Given the description of an element on the screen output the (x, y) to click on. 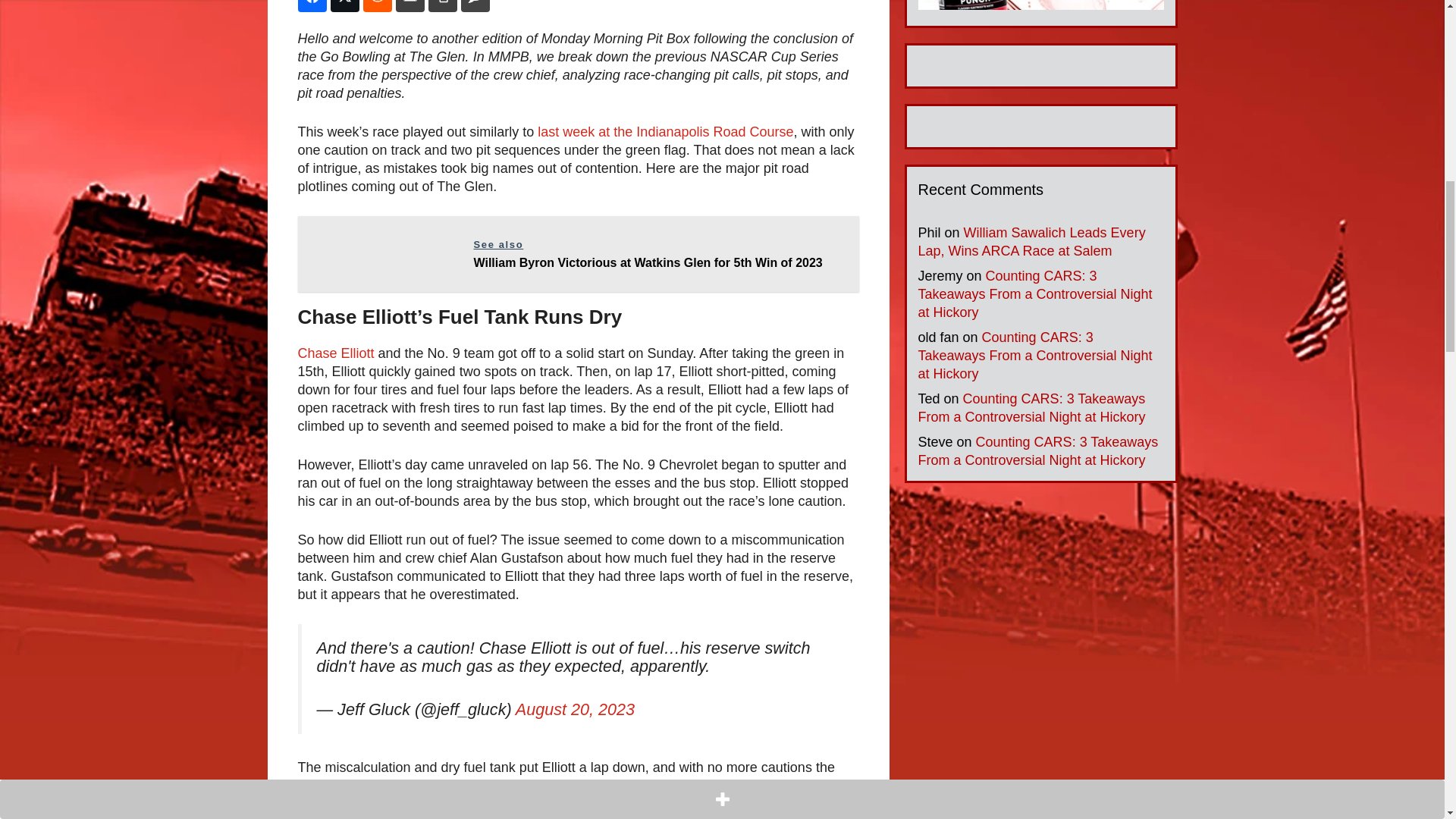
Share on Copy Link (442, 6)
last week at the Indianapolis Road Course (665, 131)
Share on Twitter (344, 6)
Scroll back to top (1406, 720)
Share on Reddit (376, 6)
Share on Email (410, 6)
Chase Elliott (335, 353)
August 20, 2023 (574, 709)
Share on Comments (475, 6)
Share on Facebook (311, 6)
